Given the description of an element on the screen output the (x, y) to click on. 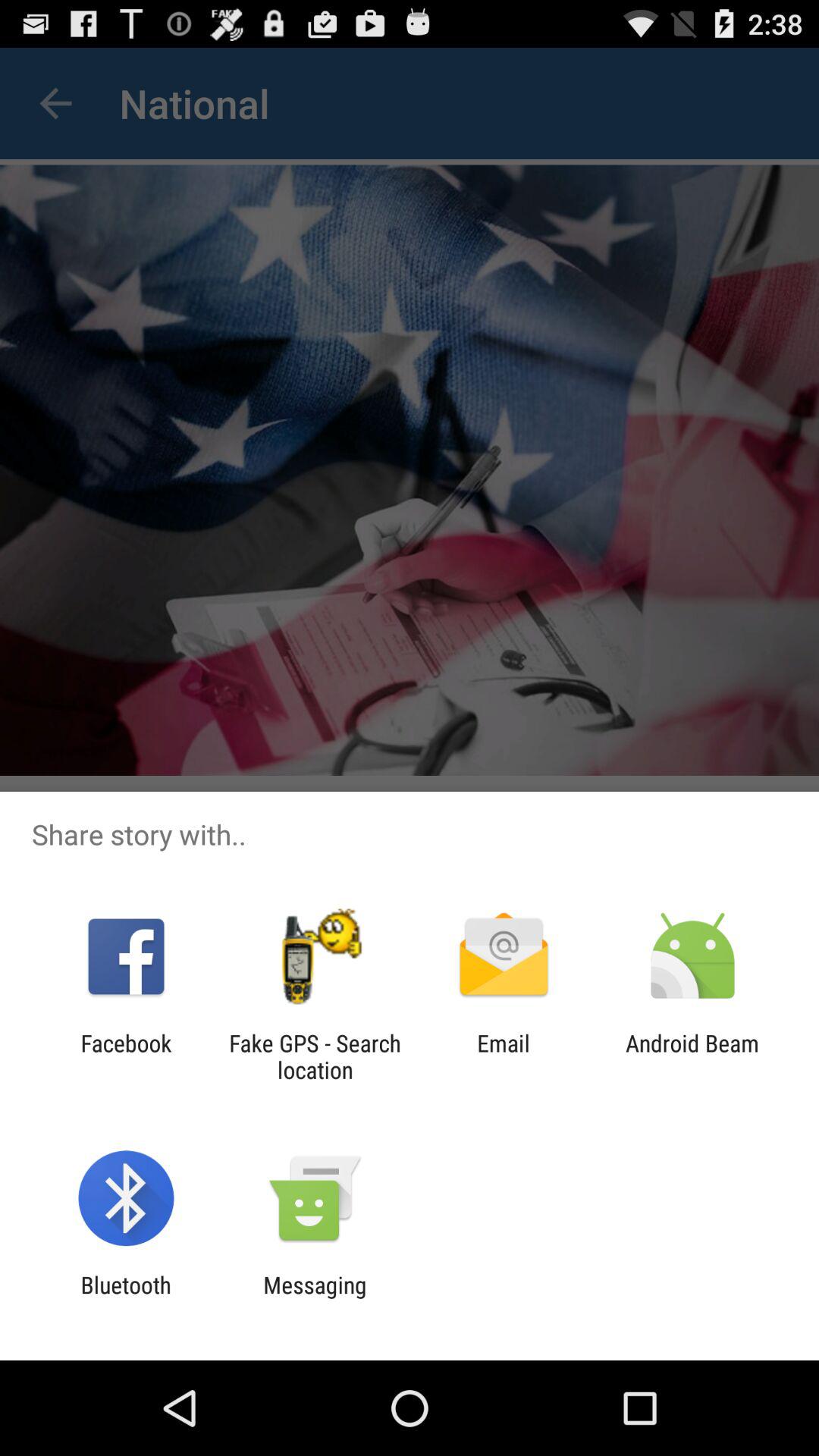
select email item (503, 1056)
